Given the description of an element on the screen output the (x, y) to click on. 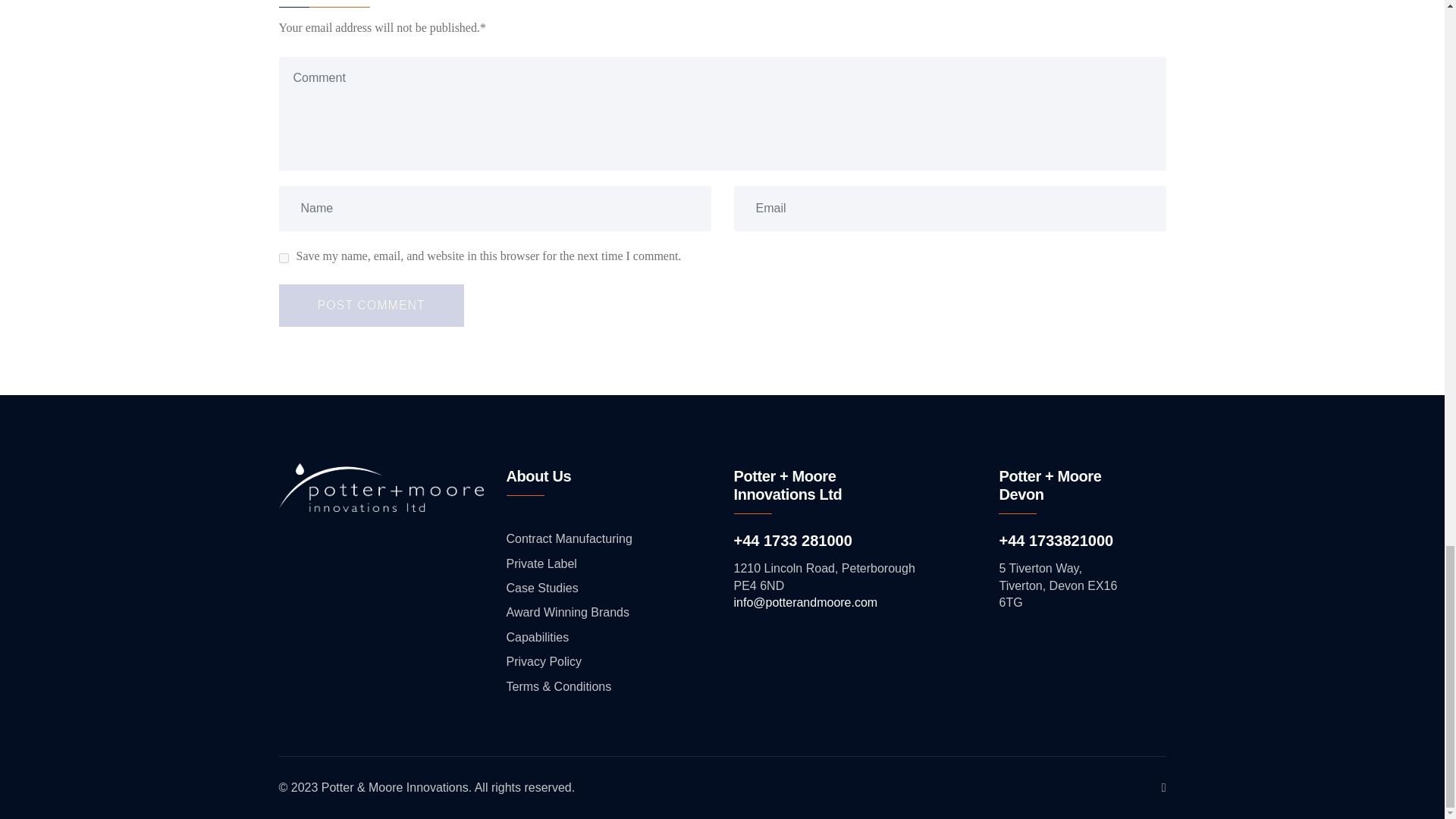
yes (283, 257)
